Given the description of an element on the screen output the (x, y) to click on. 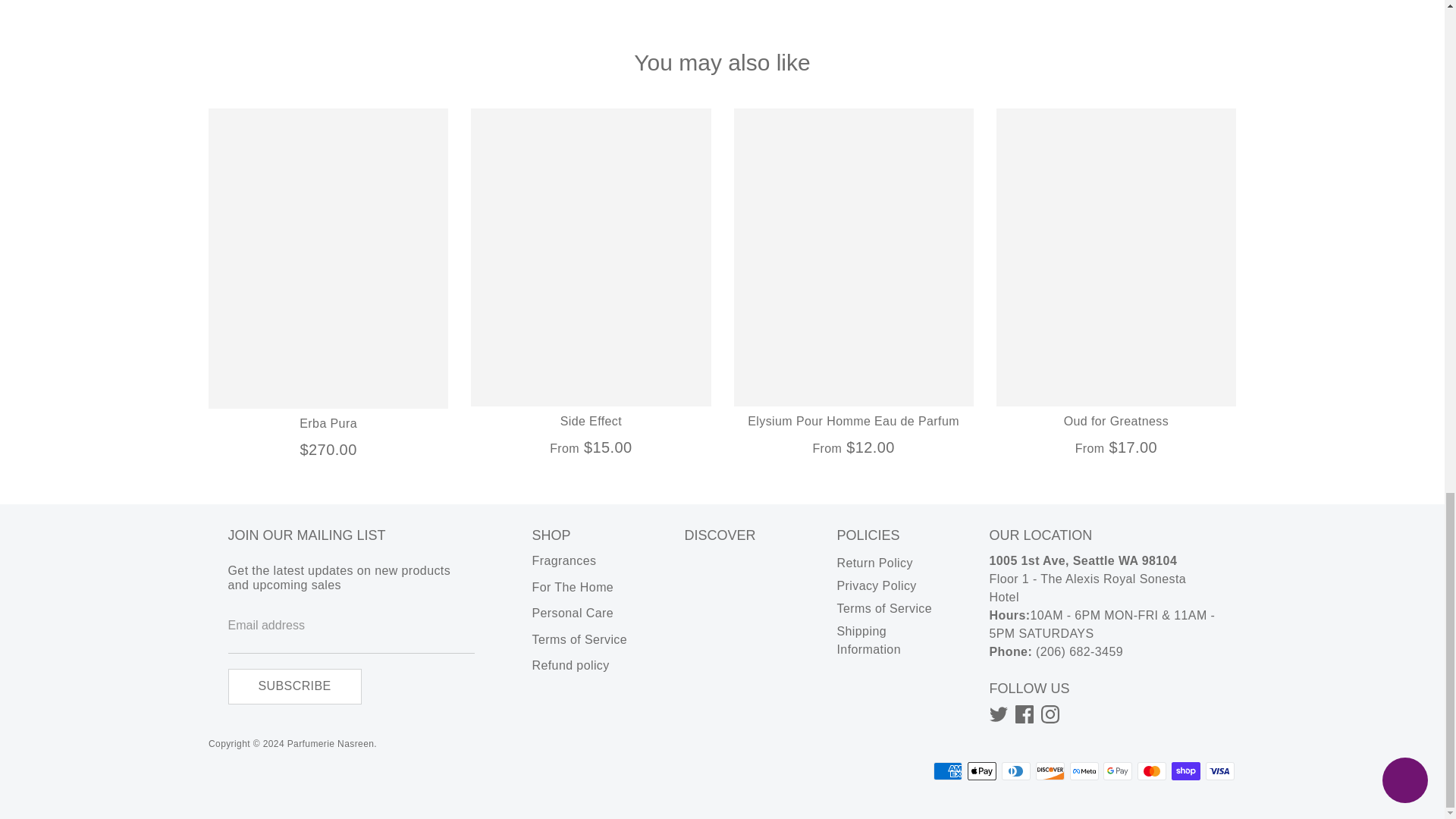
Visa (1219, 771)
Discover (1049, 771)
American Express (947, 771)
Google Pay (1117, 771)
Shop Pay (1185, 771)
Apple Pay (981, 771)
Mastercard (1151, 771)
Meta Pay (1084, 771)
Diners Club (1015, 771)
